Given the description of an element on the screen output the (x, y) to click on. 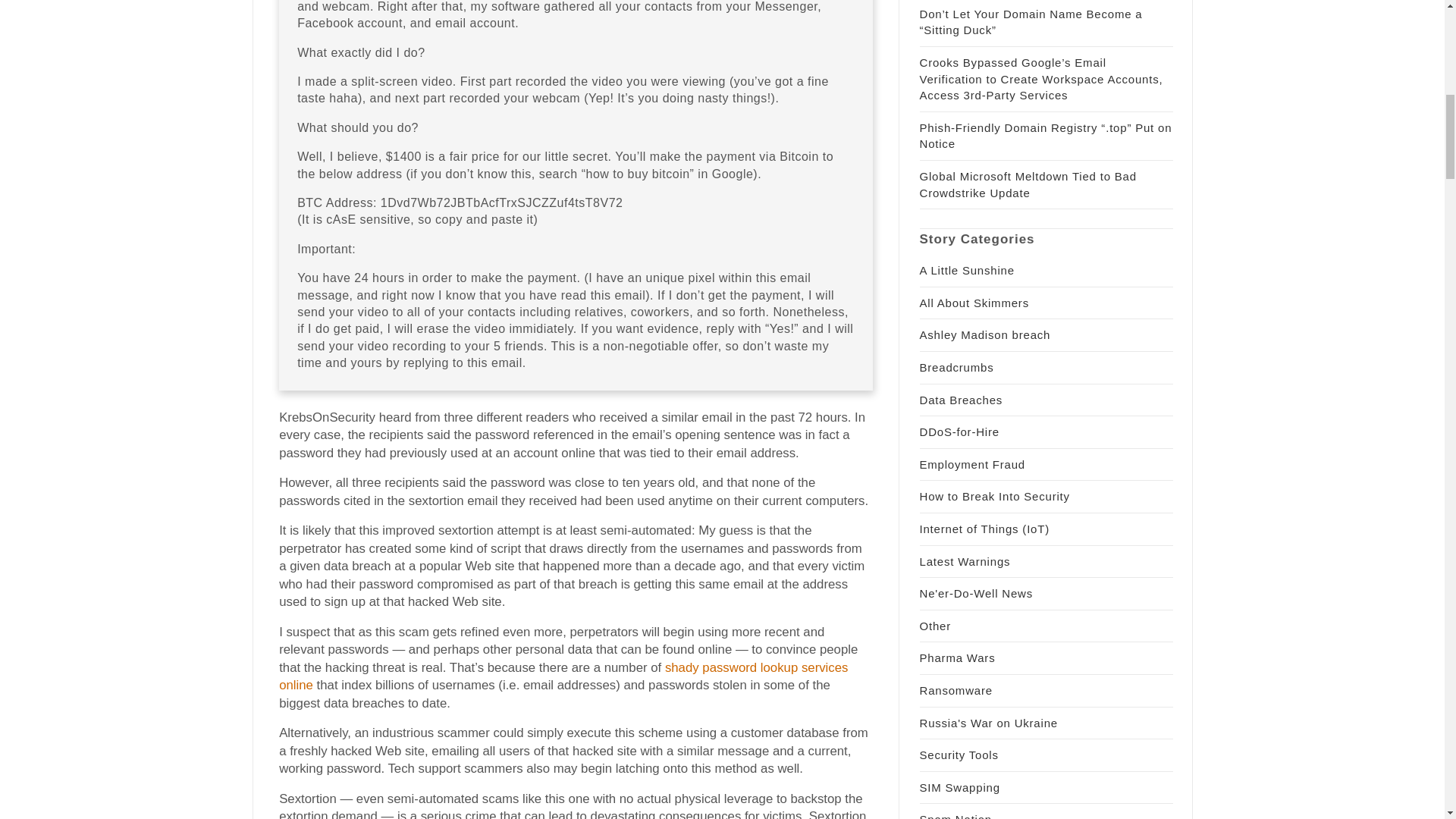
shady password lookup services online (563, 676)
